Given the description of an element on the screen output the (x, y) to click on. 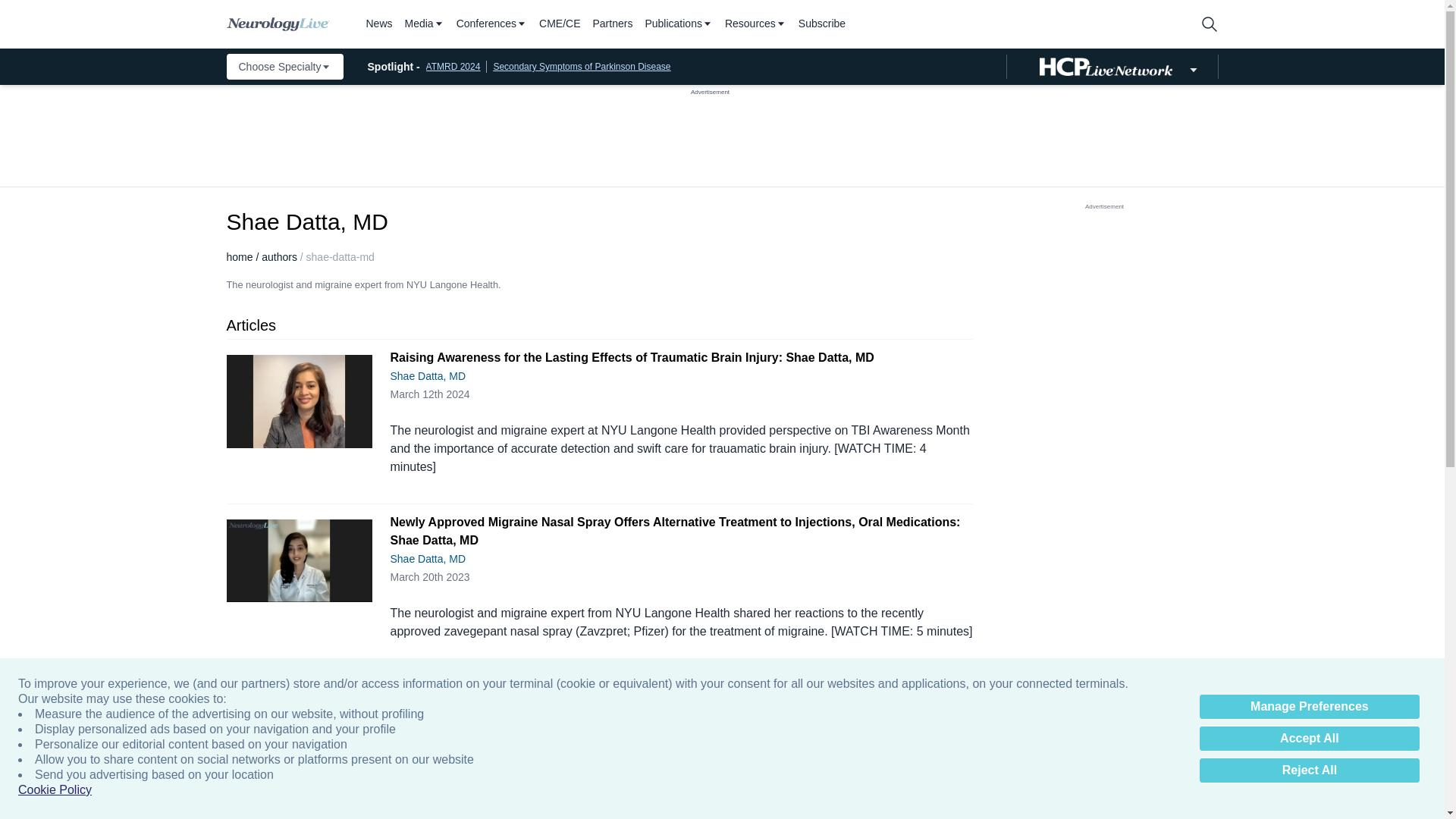
News (378, 23)
Media (424, 23)
3rd party ad content (710, 131)
Resources (755, 23)
Cookie Policy (54, 789)
Conferences (492, 23)
Publications (679, 23)
Partners (612, 23)
Accept All (1309, 738)
Manage Preferences (1309, 706)
Reject All (1309, 769)
